Given the description of an element on the screen output the (x, y) to click on. 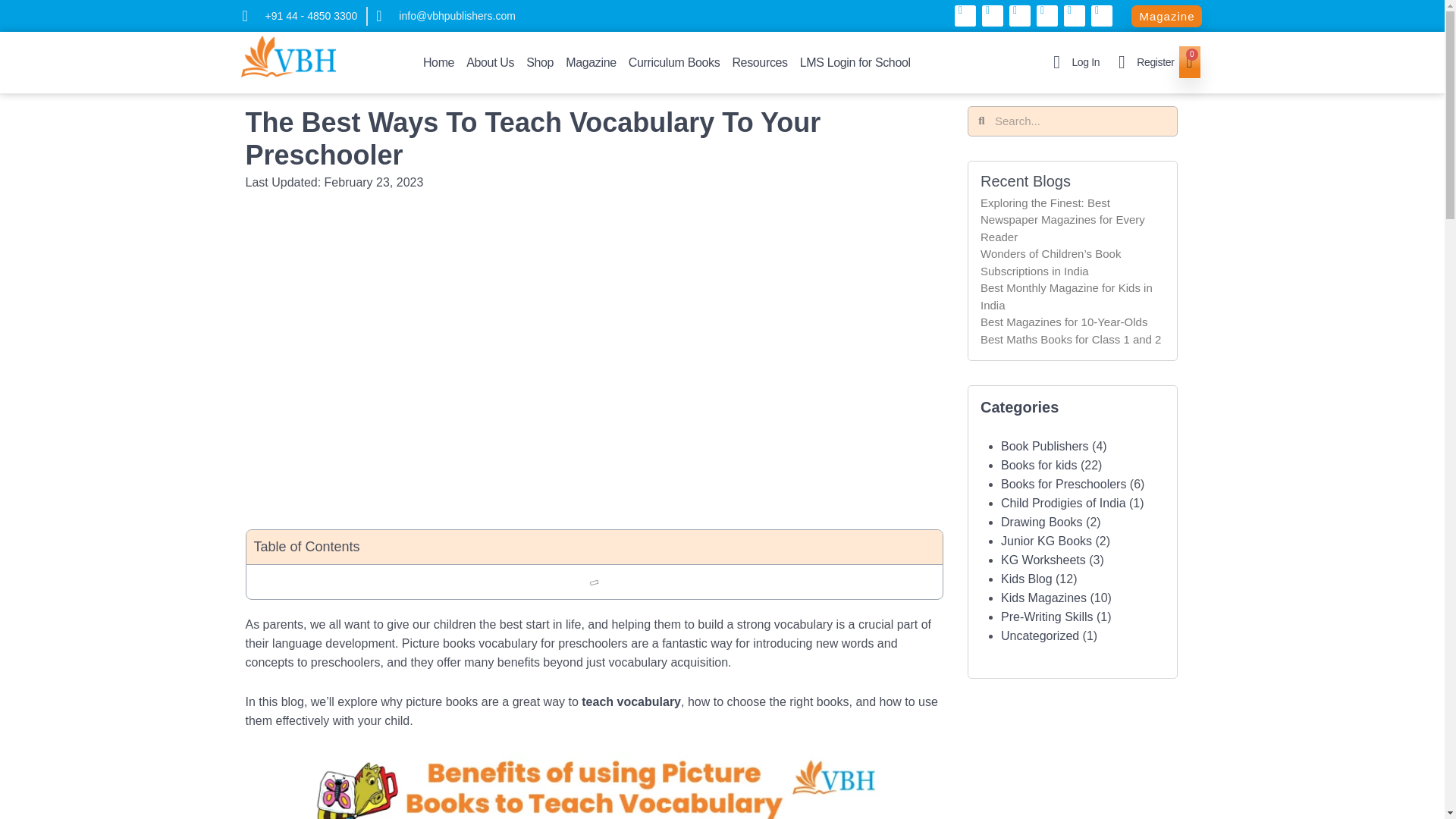
About Us (489, 62)
Home (438, 62)
Shop (539, 62)
Curriculum Books (674, 62)
LMS Login for School (854, 62)
Resources (759, 62)
Magazine (1166, 15)
Magazine (590, 62)
